Given the description of an element on the screen output the (x, y) to click on. 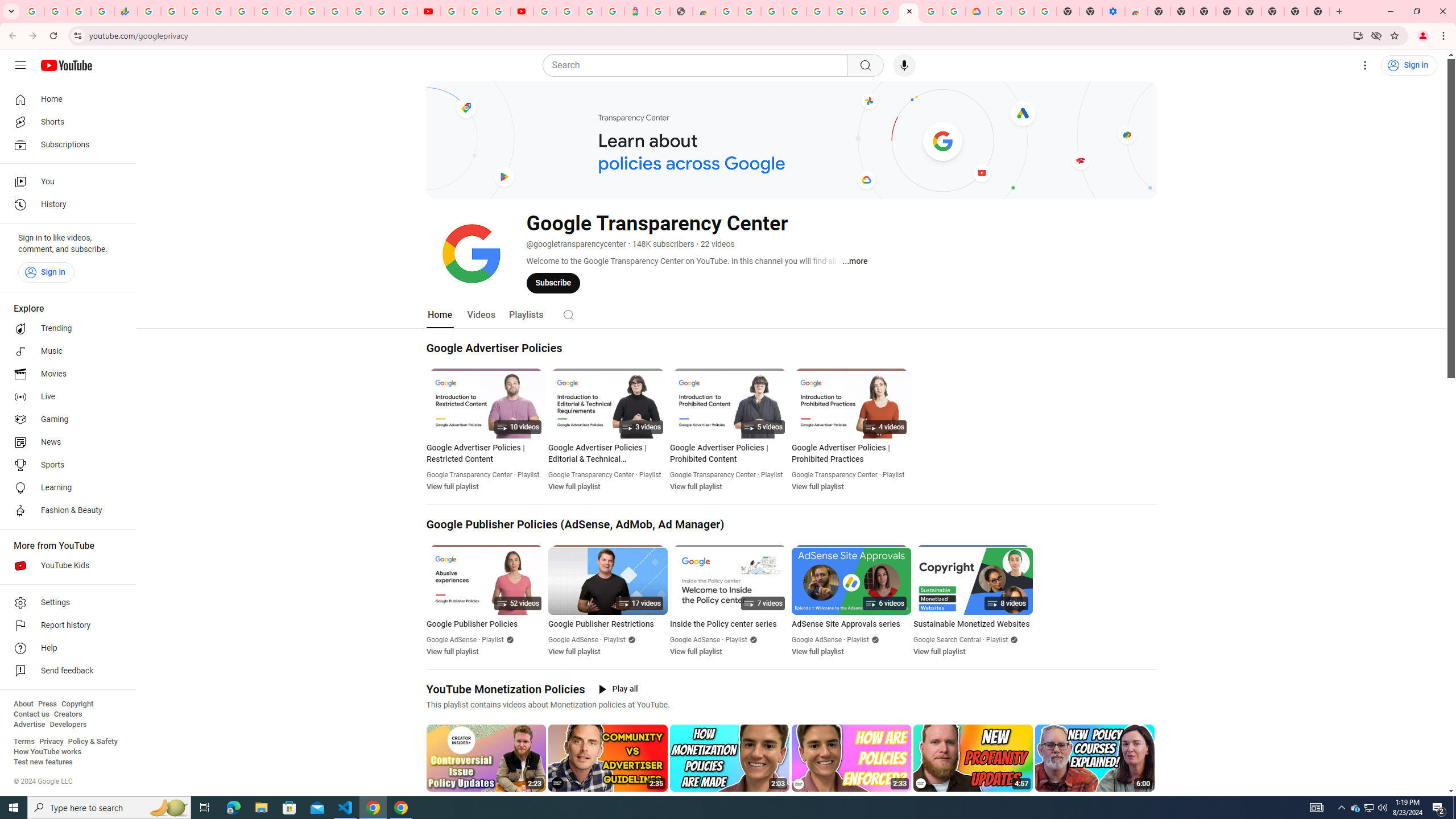
Third-party cookies blocked (1376, 35)
Terms (23, 741)
Creators (67, 714)
Browse the Google Chrome Community - Google Chrome Community (954, 11)
Sign in - Google Accounts (567, 11)
Sports (64, 464)
Install YouTube (1358, 35)
YouTube Home (66, 65)
Developers (68, 724)
Google Publisher Policies (486, 624)
Address and search bar (717, 35)
Create your Google Account (931, 11)
